Given the description of an element on the screen output the (x, y) to click on. 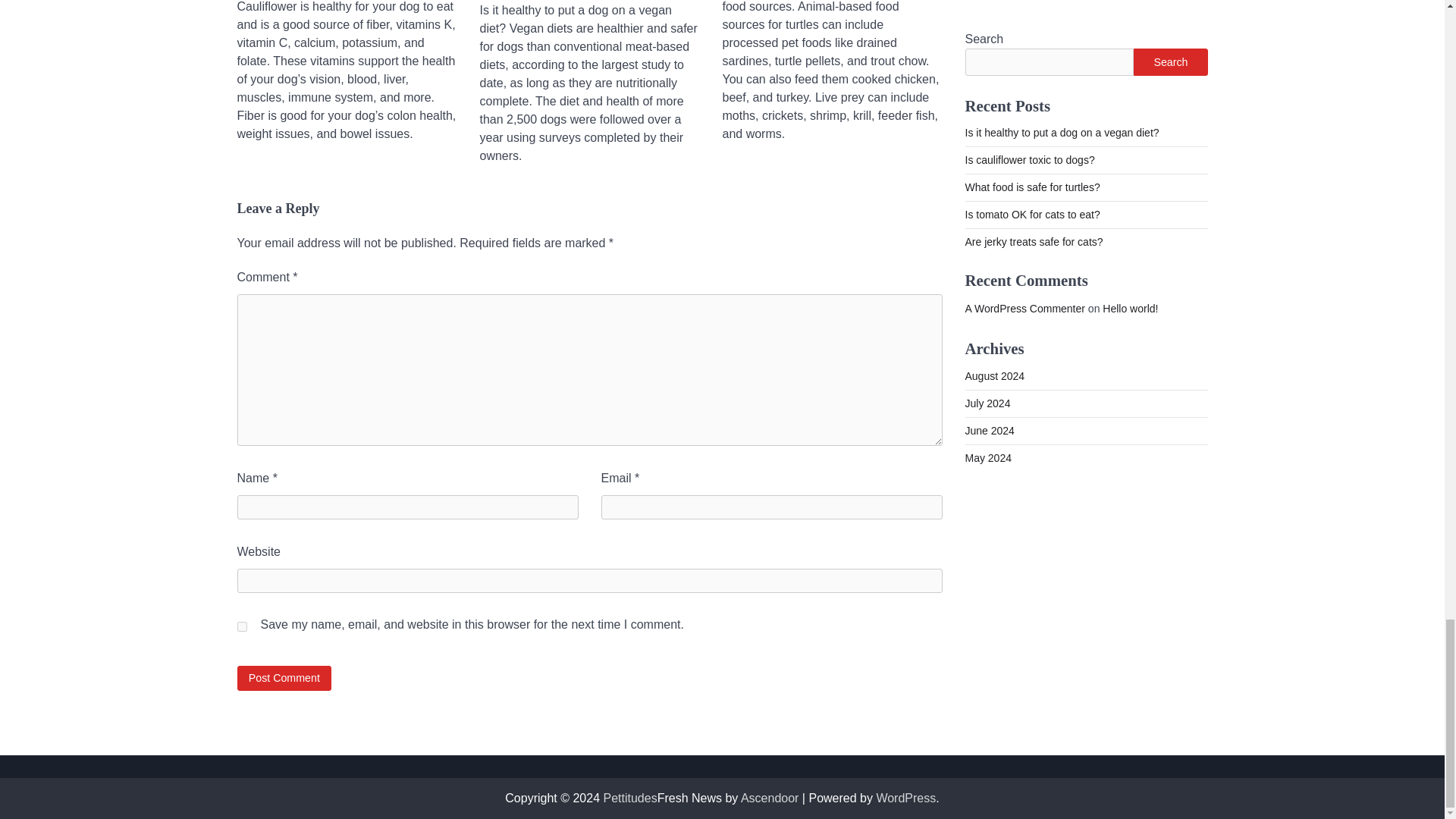
Post Comment (283, 678)
Pettitudes (631, 797)
Ascendoor (770, 797)
yes (240, 626)
WordPress (906, 797)
Post Comment (283, 678)
